Given the description of an element on the screen output the (x, y) to click on. 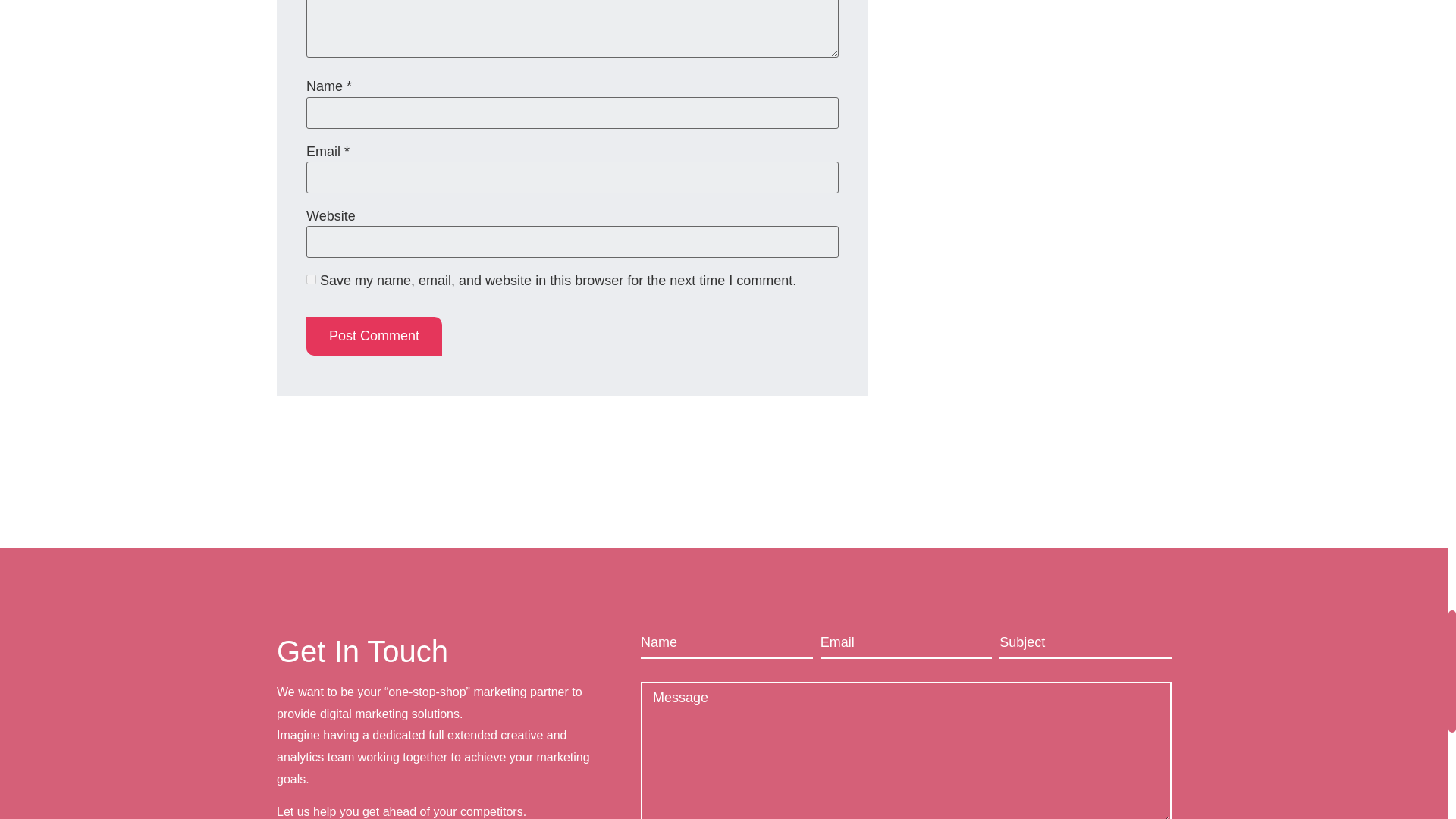
yes (310, 279)
Post Comment (373, 335)
